Given the description of an element on the screen output the (x, y) to click on. 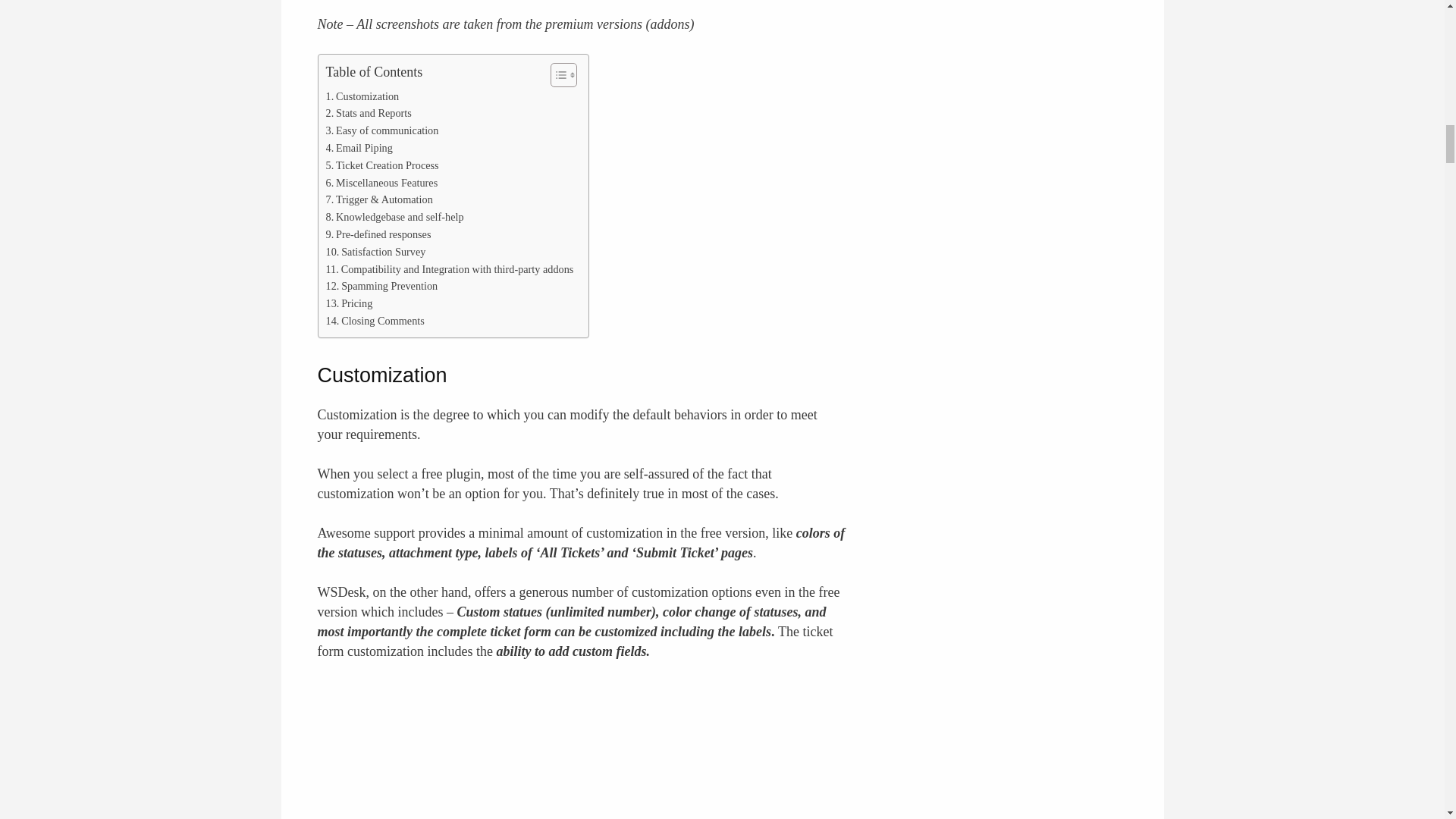
Miscellaneous Features (382, 182)
Customization (362, 96)
Email Piping (359, 148)
Easy of communication (382, 130)
Stats and Reports (369, 113)
Ticket Creation Process (382, 165)
